Given the description of an element on the screen output the (x, y) to click on. 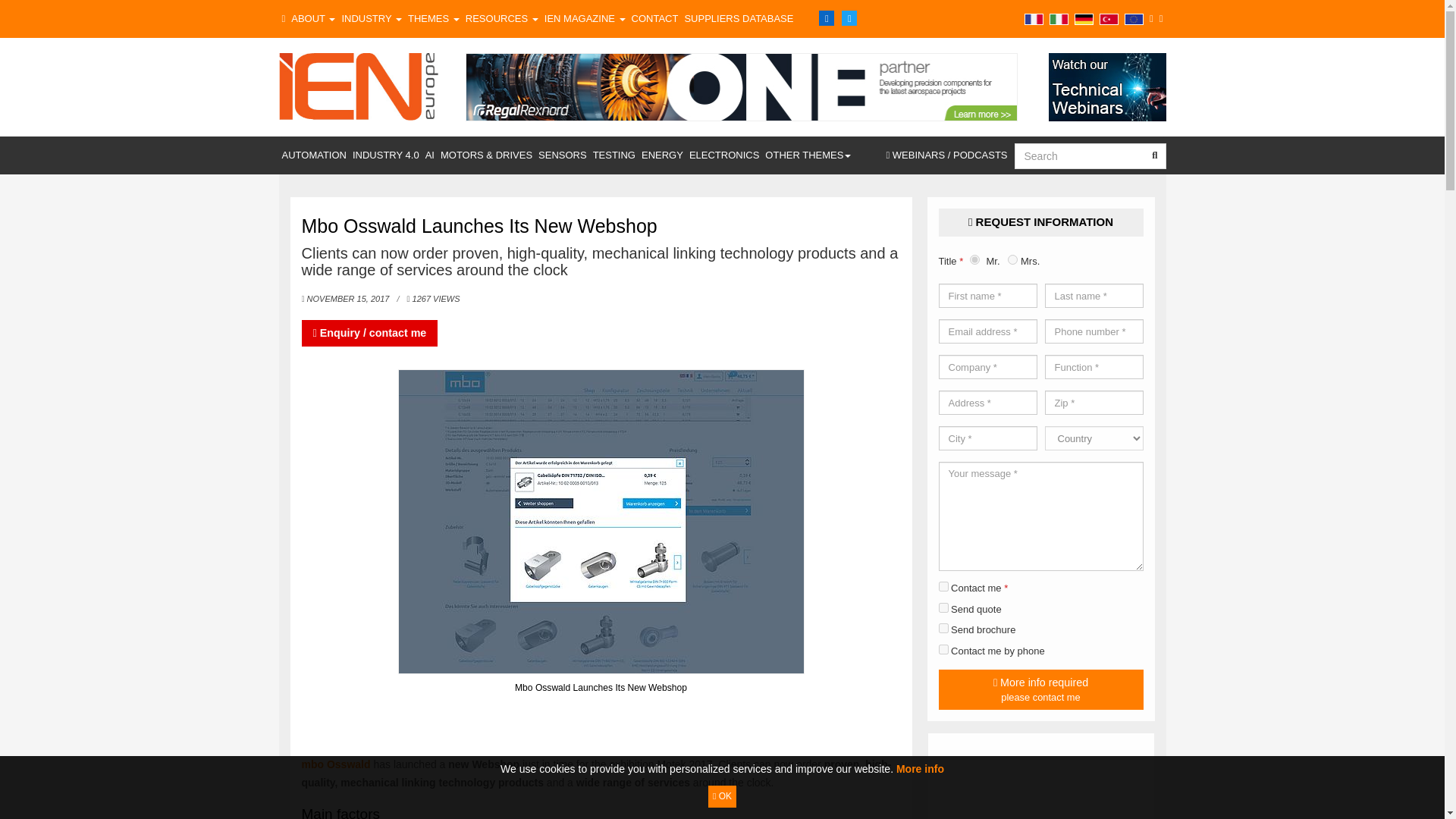
INDUSTRY (370, 18)
More info (919, 768)
OK (721, 796)
enquireForm.options.003 (944, 649)
Industry (370, 18)
1 (944, 586)
enquireForm.options.002 (944, 607)
IEN MAGAZINE (584, 18)
Mr (974, 259)
Themes (433, 18)
